Given the description of an element on the screen output the (x, y) to click on. 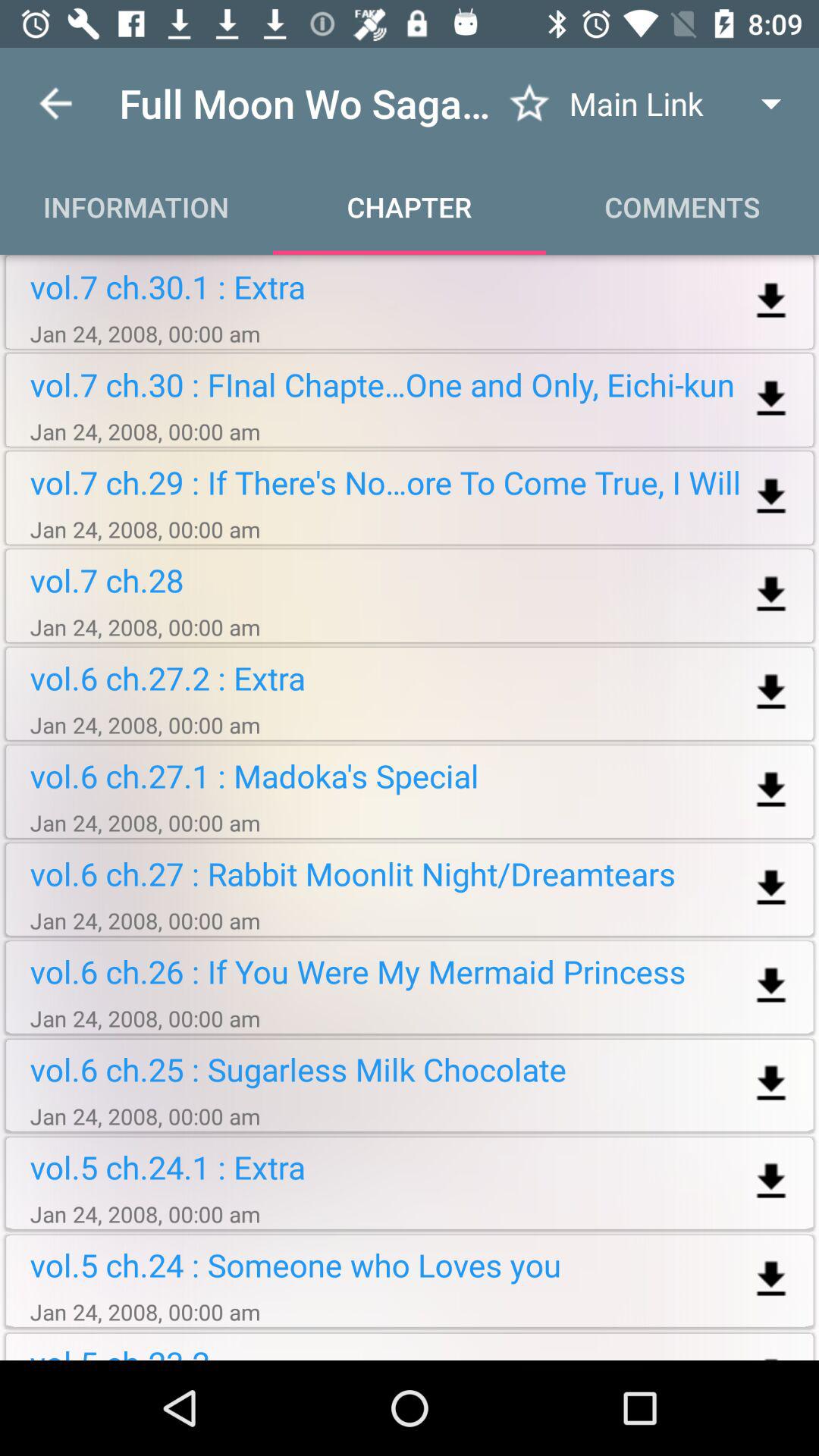
download chapter (771, 301)
